Given the description of an element on the screen output the (x, y) to click on. 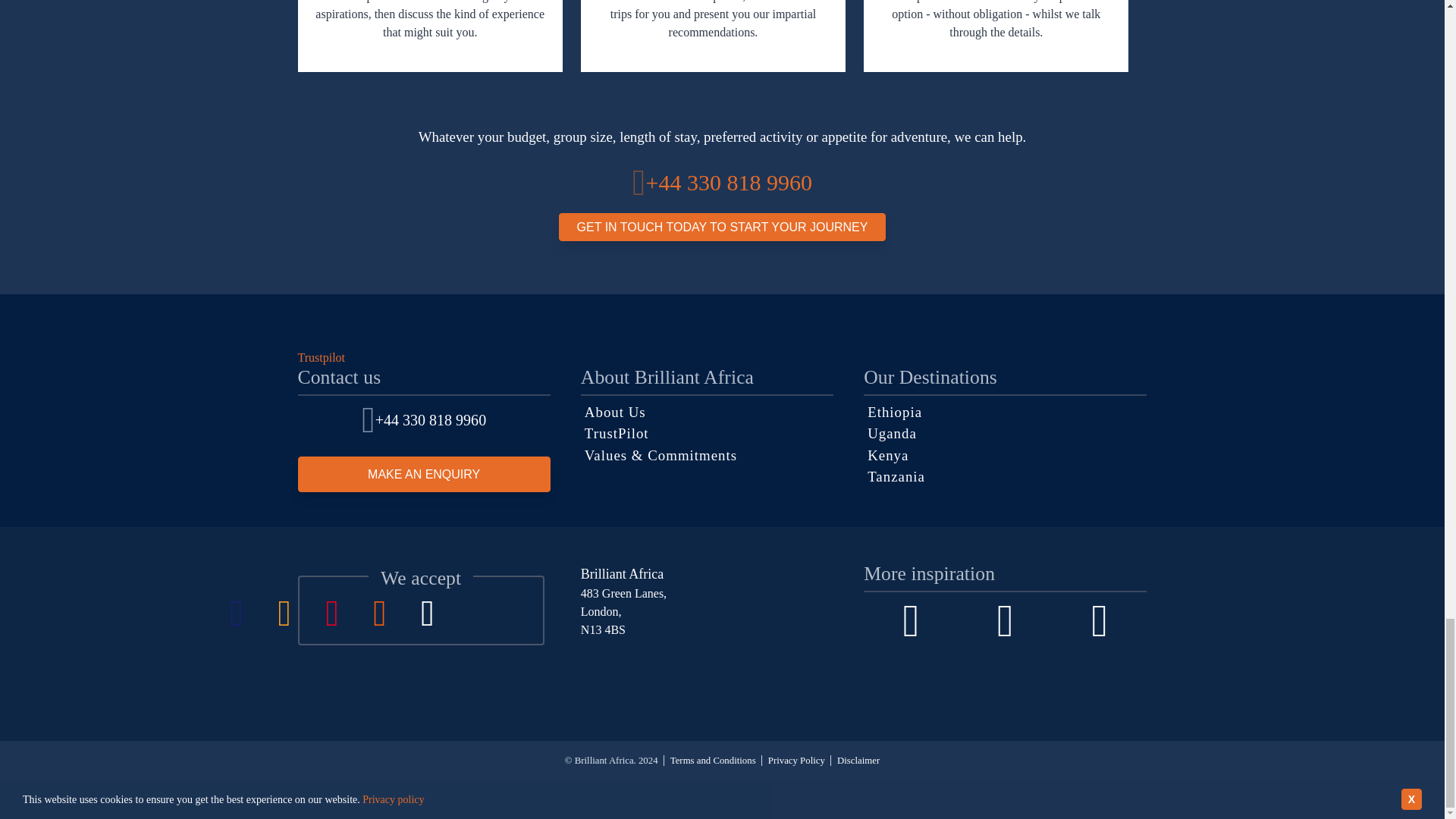
Follow Brilliant Africa on Instagram (1005, 621)
Follow Brilliant Africa on Twitter (1099, 621)
Follow Brilliant Africa on Facebook (910, 621)
